Given the description of an element on the screen output the (x, y) to click on. 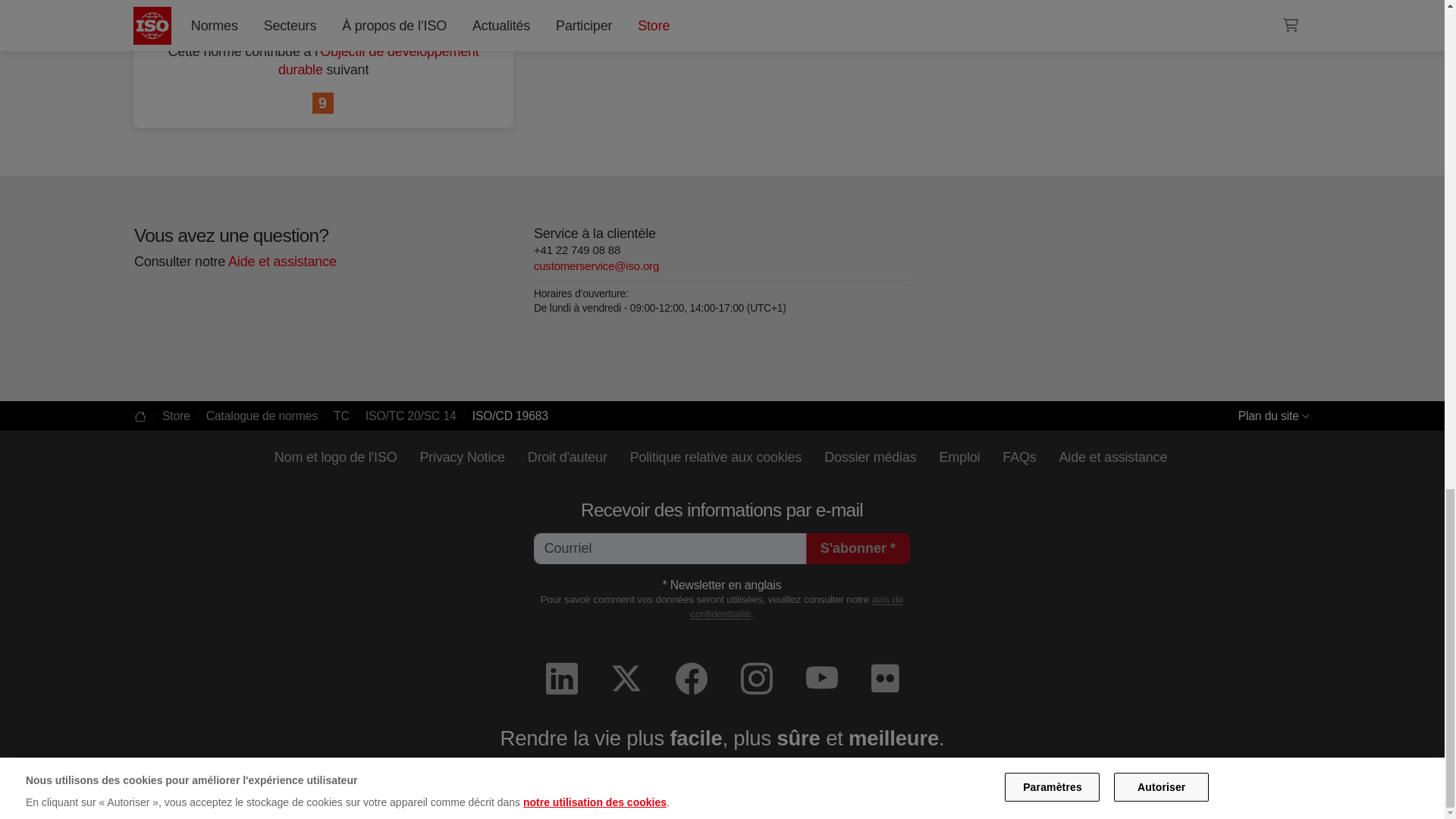
help-support (281, 260)
Page d'accueil (139, 415)
Industrie, innovation et infrastructure (323, 103)
